Given the description of an element on the screen output the (x, y) to click on. 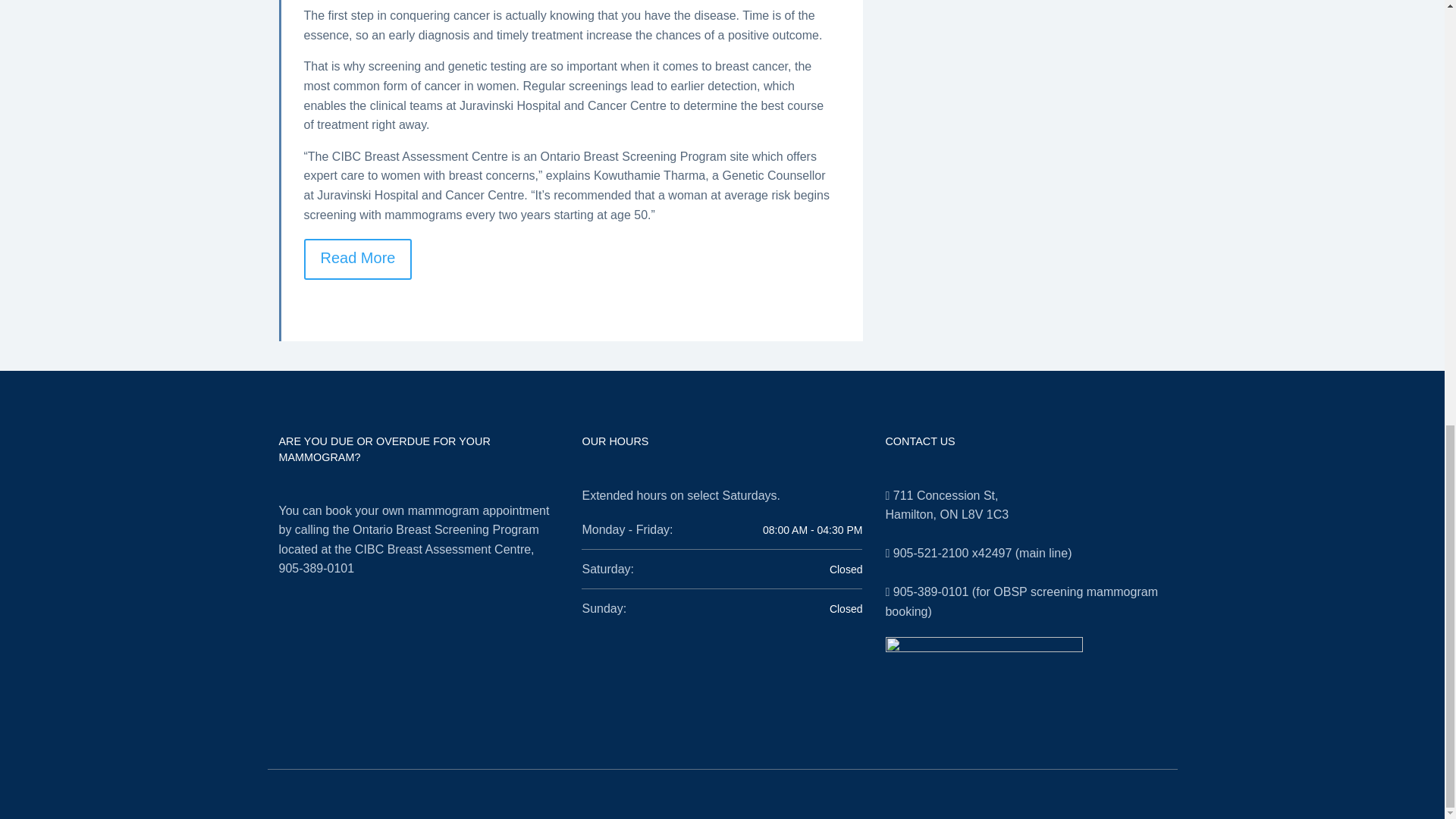
Read More (357, 259)
